Given the description of an element on the screen output the (x, y) to click on. 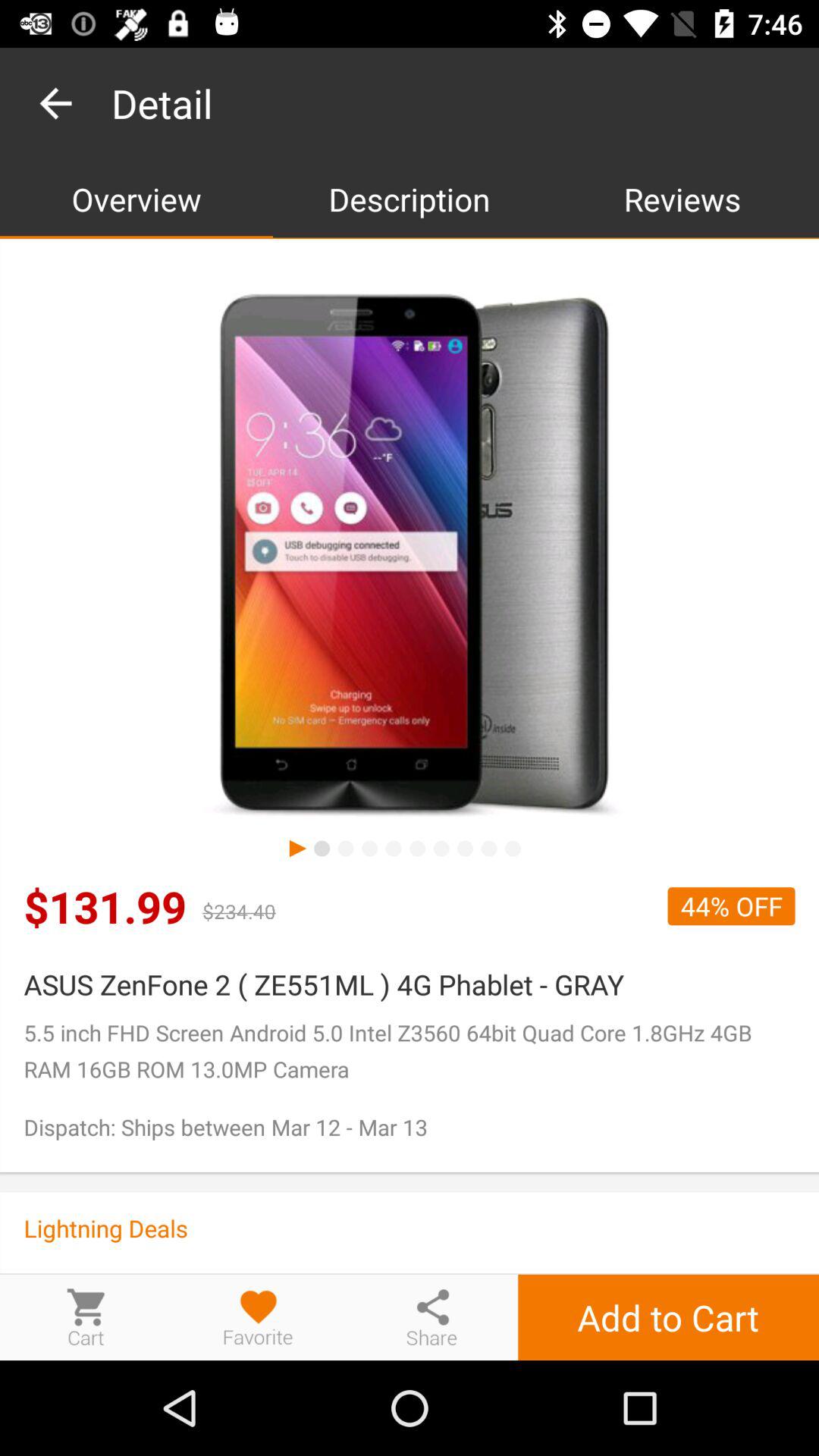
favorite this item (258, 1317)
